Given the description of an element on the screen output the (x, y) to click on. 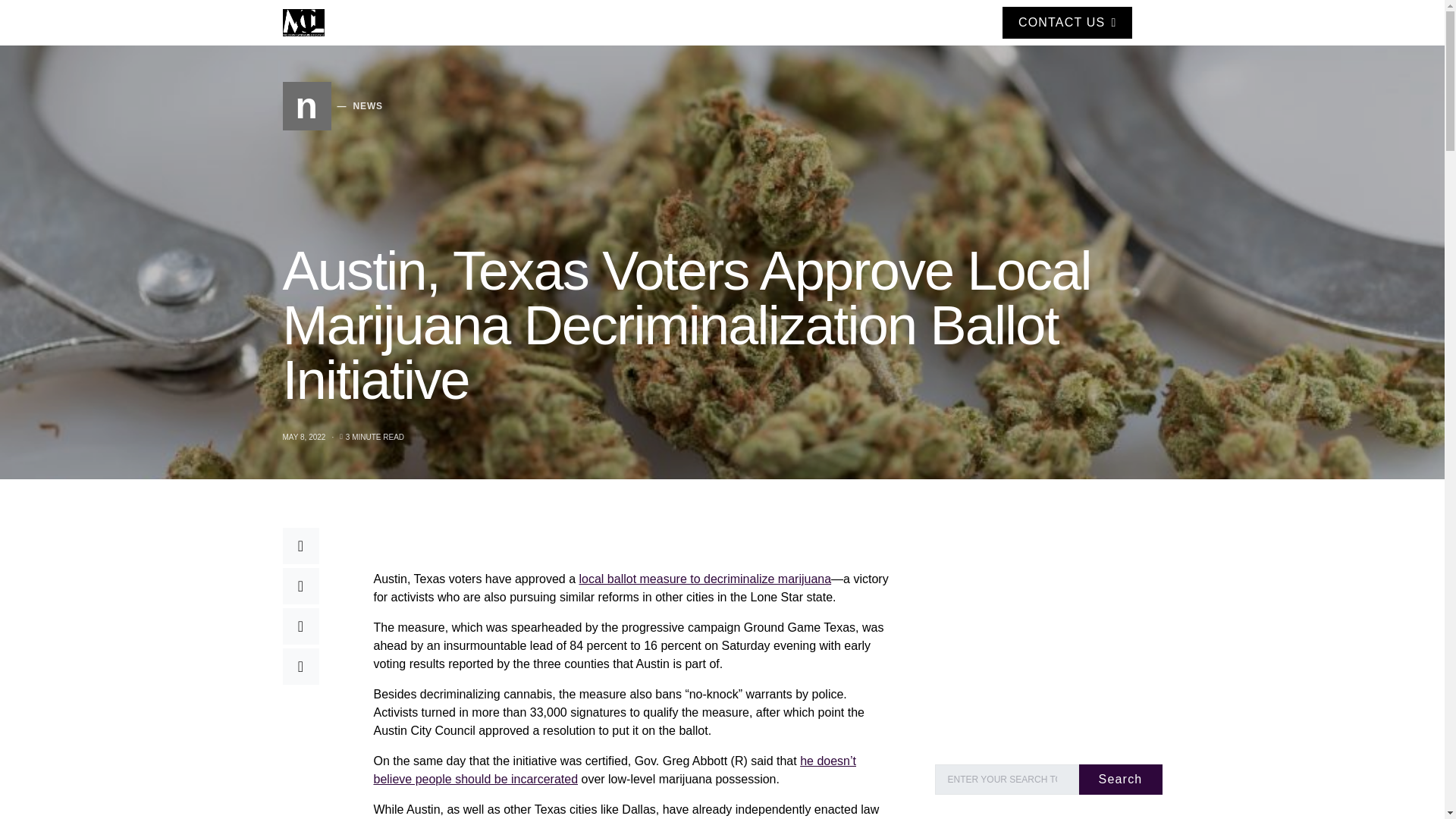
NEWS (652, 22)
CULTURE (874, 22)
LEGISLATION (726, 22)
local ballot measure to decriminalize marijuana (704, 577)
RECIPES (808, 22)
ENTERTAINMENT (568, 22)
LIFESTYLE (332, 105)
CONTACT US (470, 22)
